Given the description of an element on the screen output the (x, y) to click on. 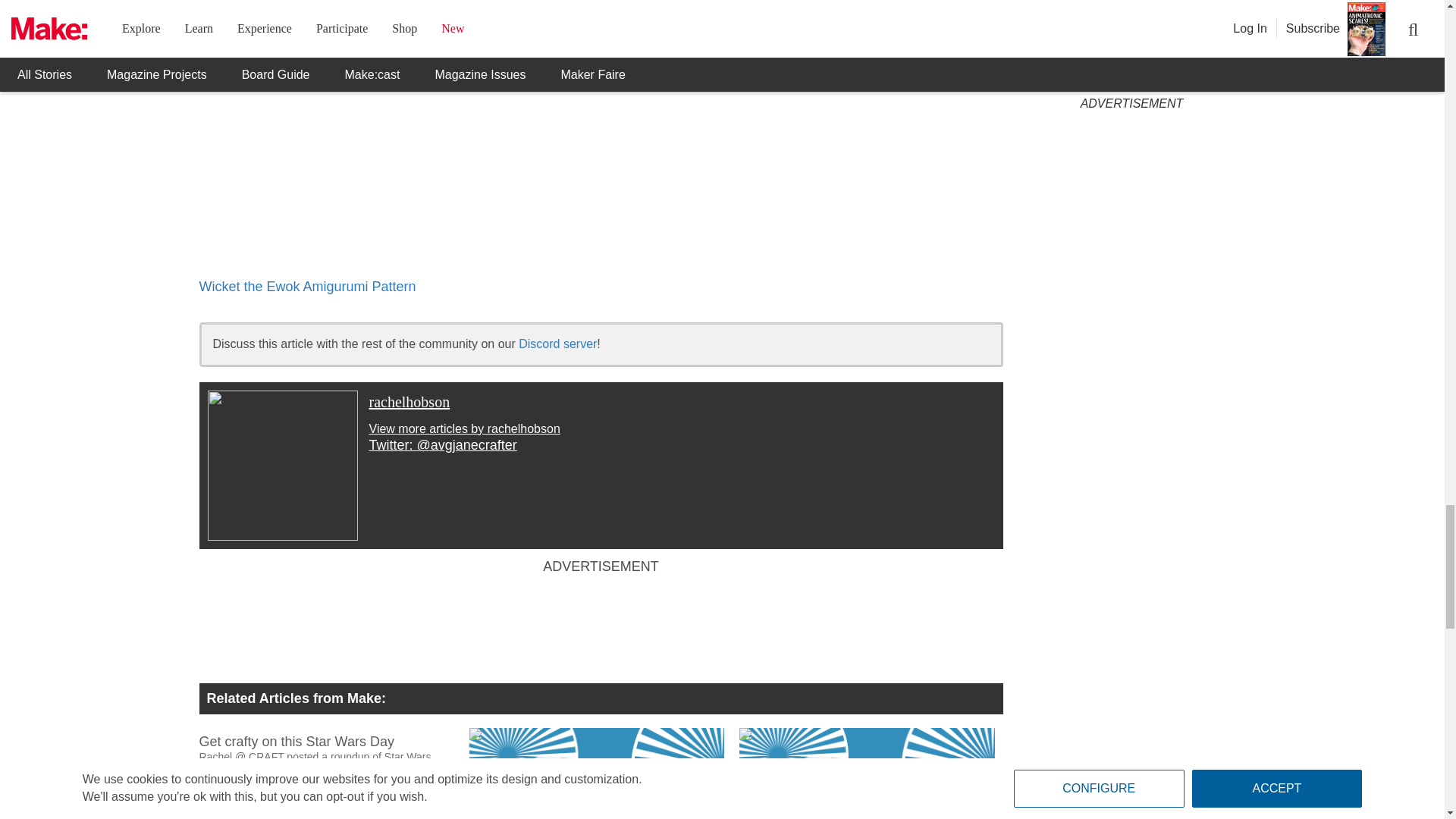
3rd party ad content (600, 624)
Get crafty on this Star Wars Day (333, 753)
Book Review: The Star Wars Craft Book (595, 773)
Get crafty on this Star Wars Day (325, 738)
